Given the description of an element on the screen output the (x, y) to click on. 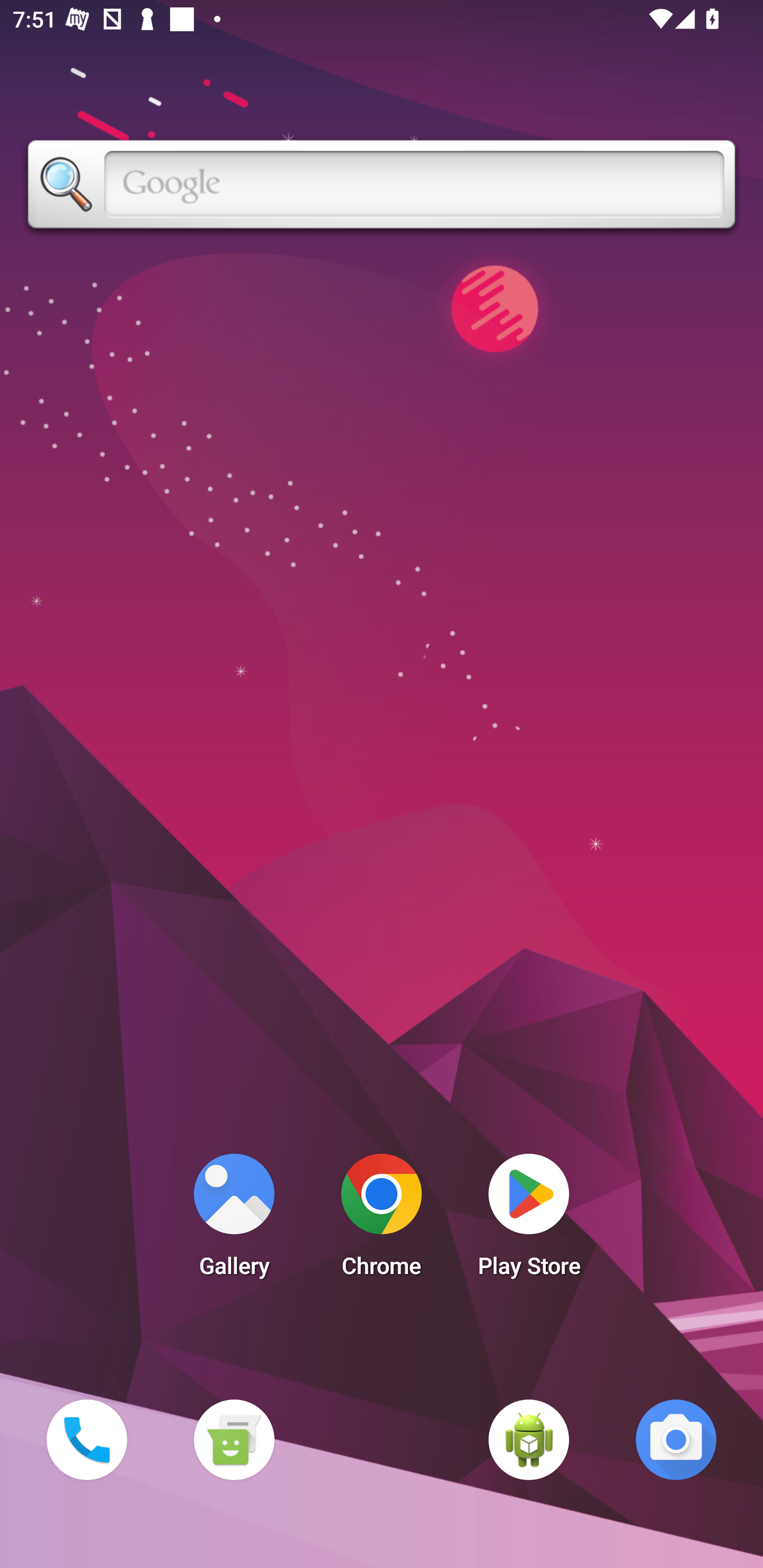
Gallery (233, 1220)
Chrome (381, 1220)
Play Store (528, 1220)
Phone (86, 1439)
Messaging (233, 1439)
WebView Browser Tester (528, 1439)
Camera (676, 1439)
